Given the description of an element on the screen output the (x, y) to click on. 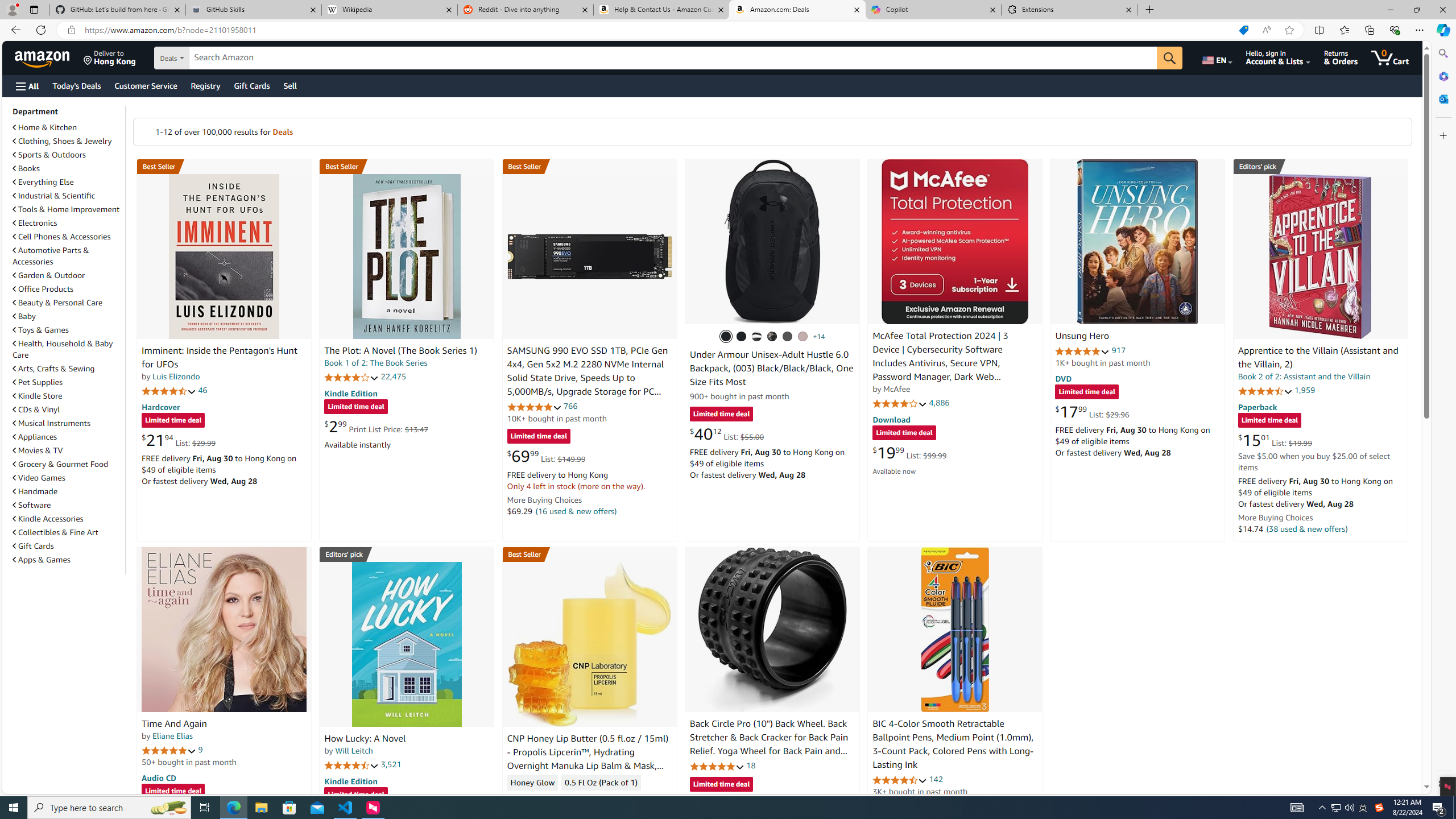
3,521 (390, 764)
Kindle Accessories (47, 518)
How Lucky: A Novel (365, 738)
1,959 (1305, 390)
Settings and more (Alt+F) (1419, 29)
Garden & Outdoor (49, 275)
Registry (205, 85)
Tools & Home Improvement (67, 208)
Video Games (67, 477)
Industrial & Scientific (54, 195)
Copilot (Ctrl+Shift+.) (1442, 29)
Software (67, 505)
